Given the description of an element on the screen output the (x, y) to click on. 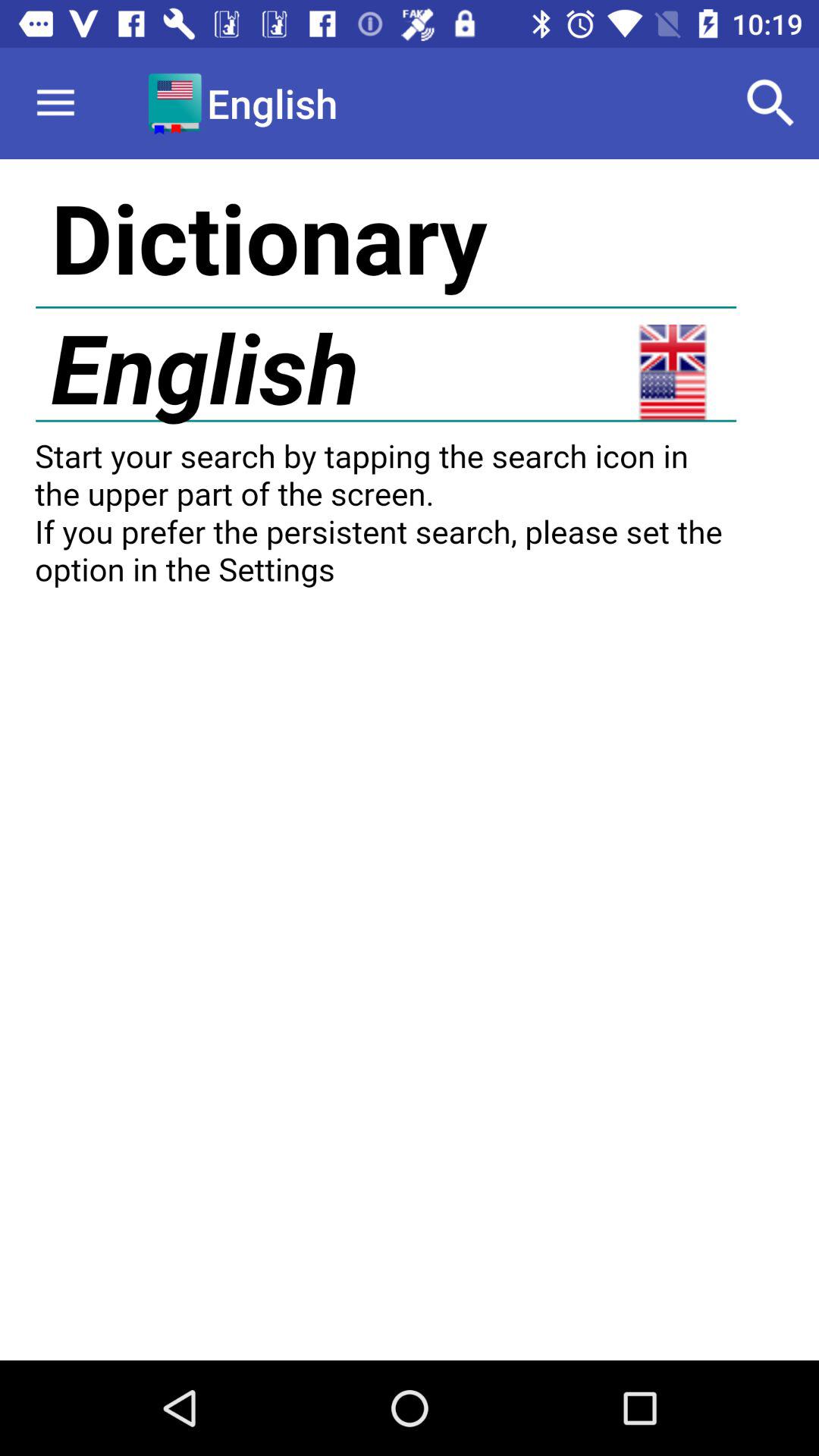
for dictionary option (409, 759)
